Given the description of an element on the screen output the (x, y) to click on. 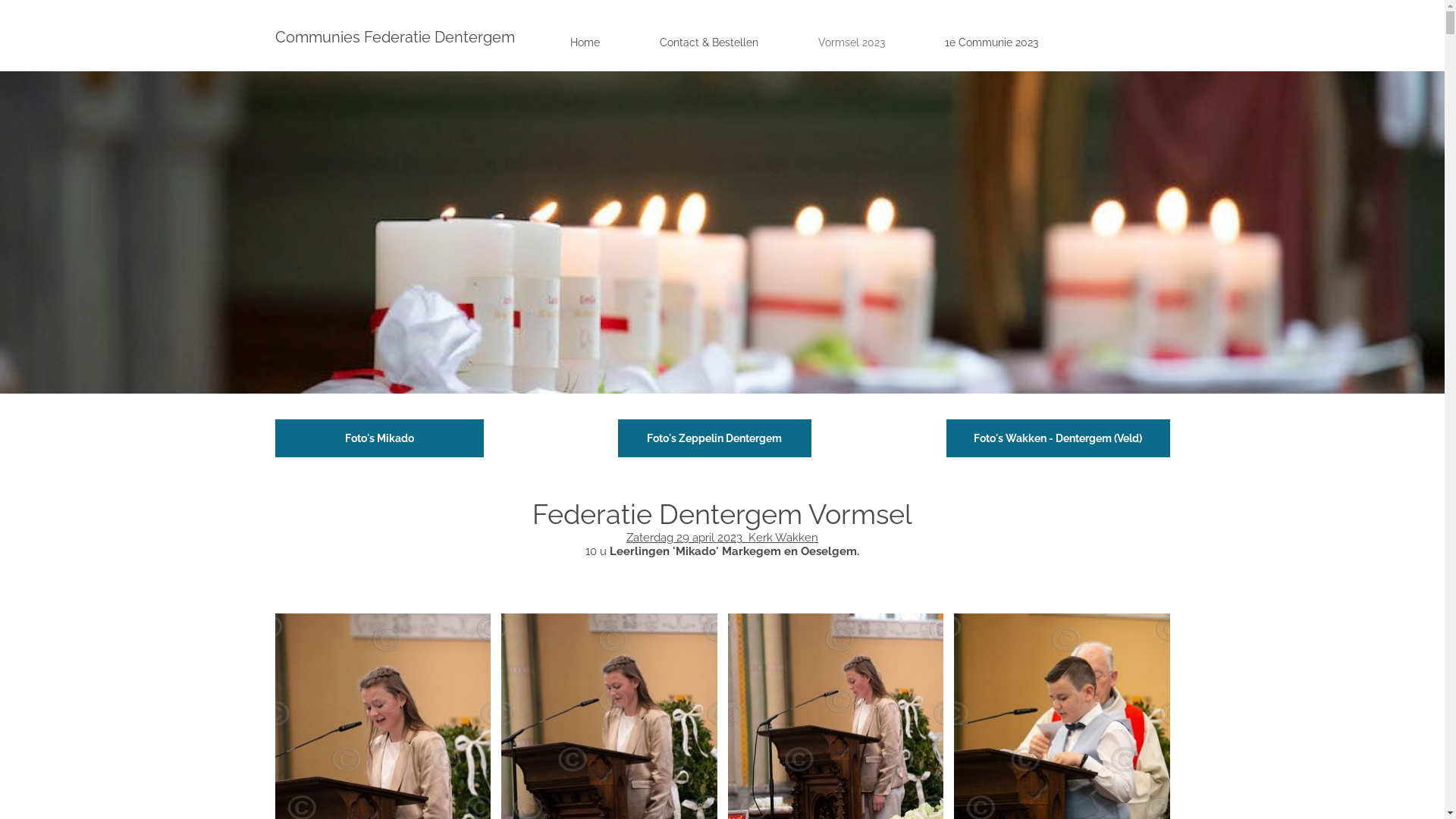
1e Communie 2023 Element type: text (998, 42)
Foto's Zeppelin Dentergem Element type: text (713, 438)
Foto's Mikado Element type: text (378, 438)
Home Element type: text (592, 42)
Vormsel 2023 Element type: text (857, 42)
Foto's Wakken - Dentergem (Veld) Element type: text (1058, 438)
Contact & Bestellen Element type: text (716, 42)
